Given the description of an element on the screen output the (x, y) to click on. 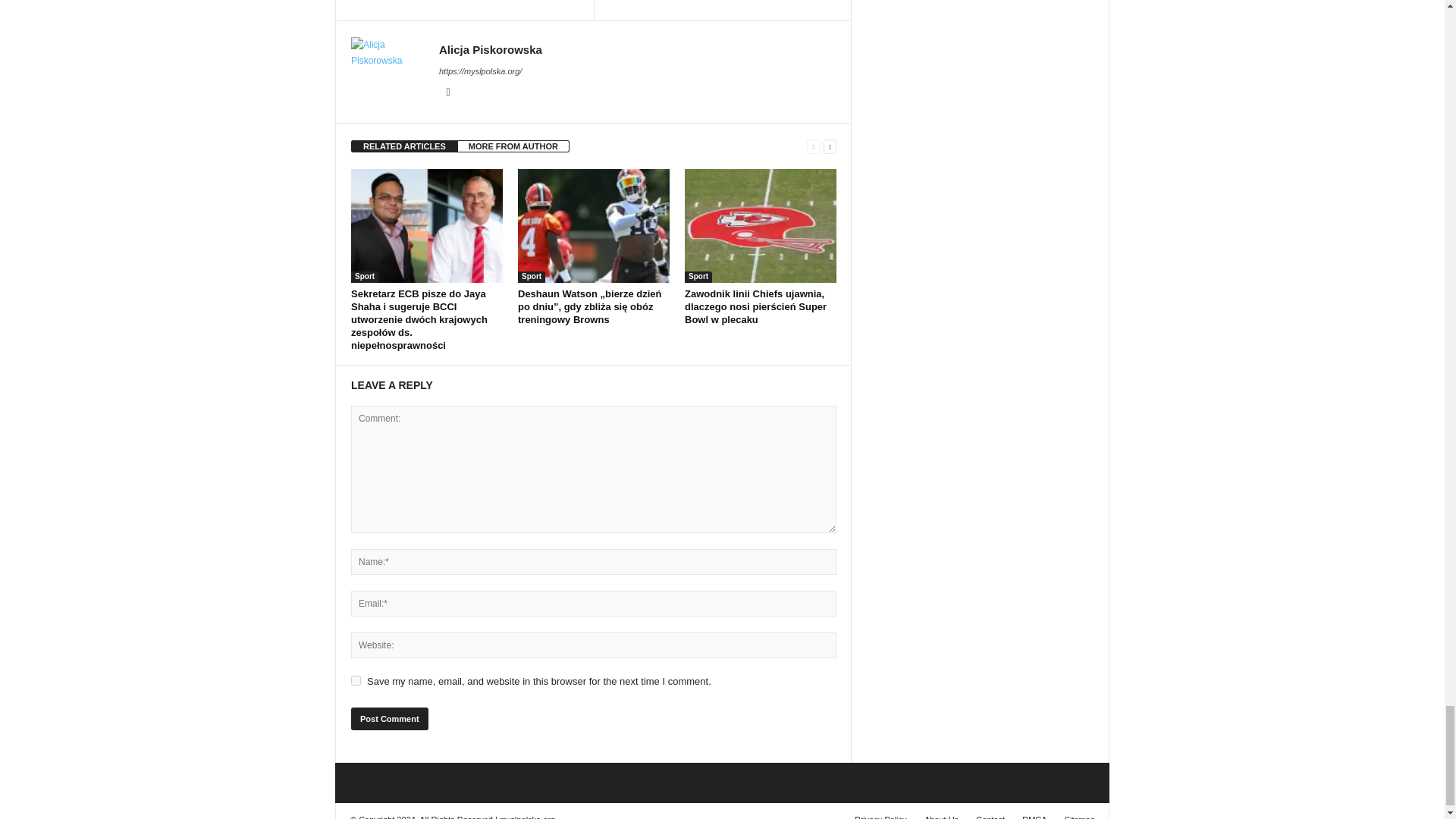
yes (355, 680)
Post Comment (389, 718)
